Given the description of an element on the screen output the (x, y) to click on. 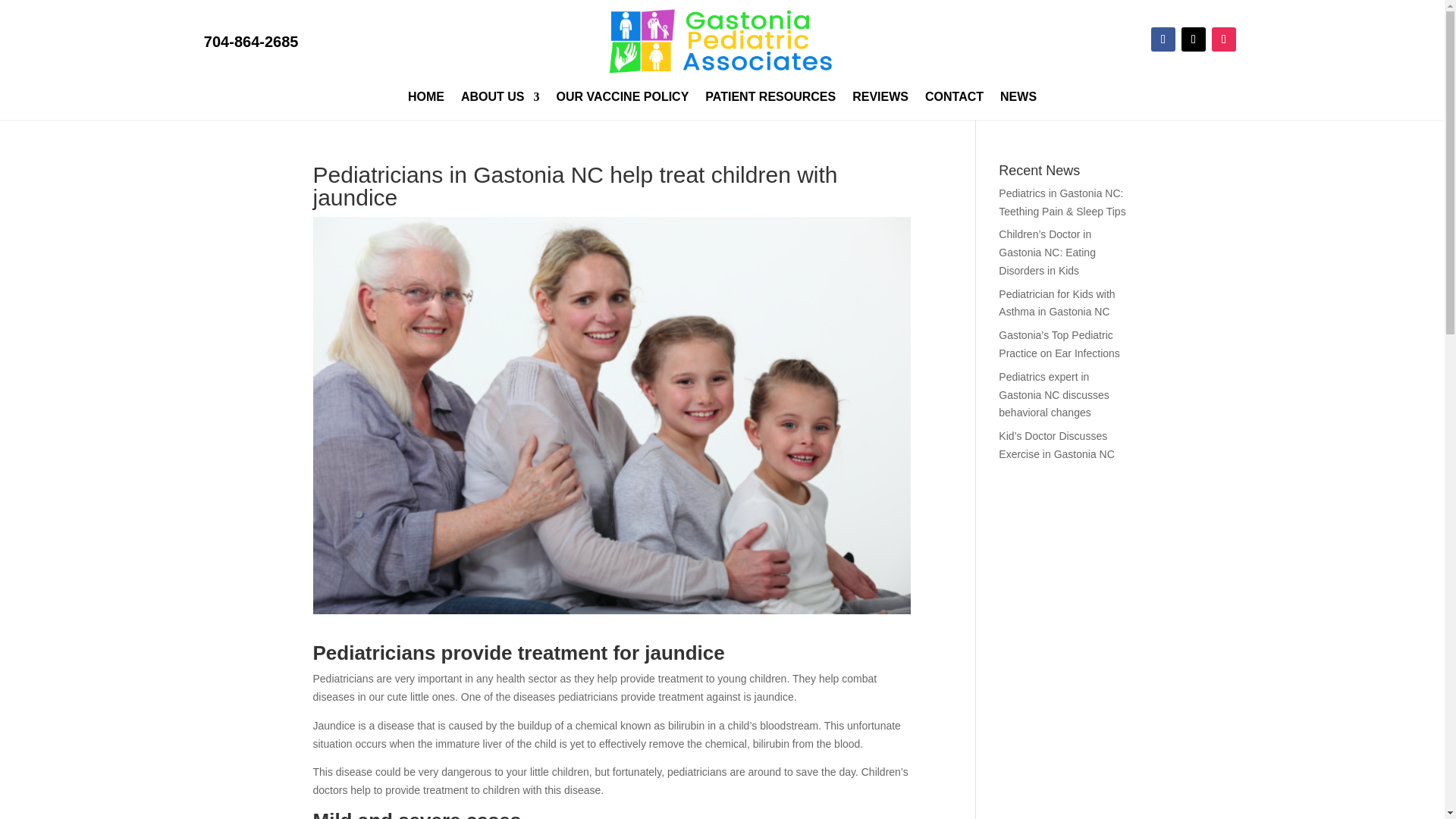
ABOUT US (500, 99)
OUR VACCINE POLICY (622, 99)
PATIENT RESOURCES (769, 99)
NEWS (1018, 99)
Follow on Instagram (1223, 39)
REVIEWS (879, 99)
Follow on X (1192, 39)
Pediatrician for Kids with Asthma in Gastonia NC (1056, 303)
704-864-2685 (250, 41)
Follow on Facebook (1162, 39)
gastonia ped logo (721, 42)
HOME (425, 99)
CONTACT (954, 99)
